Given the description of an element on the screen output the (x, y) to click on. 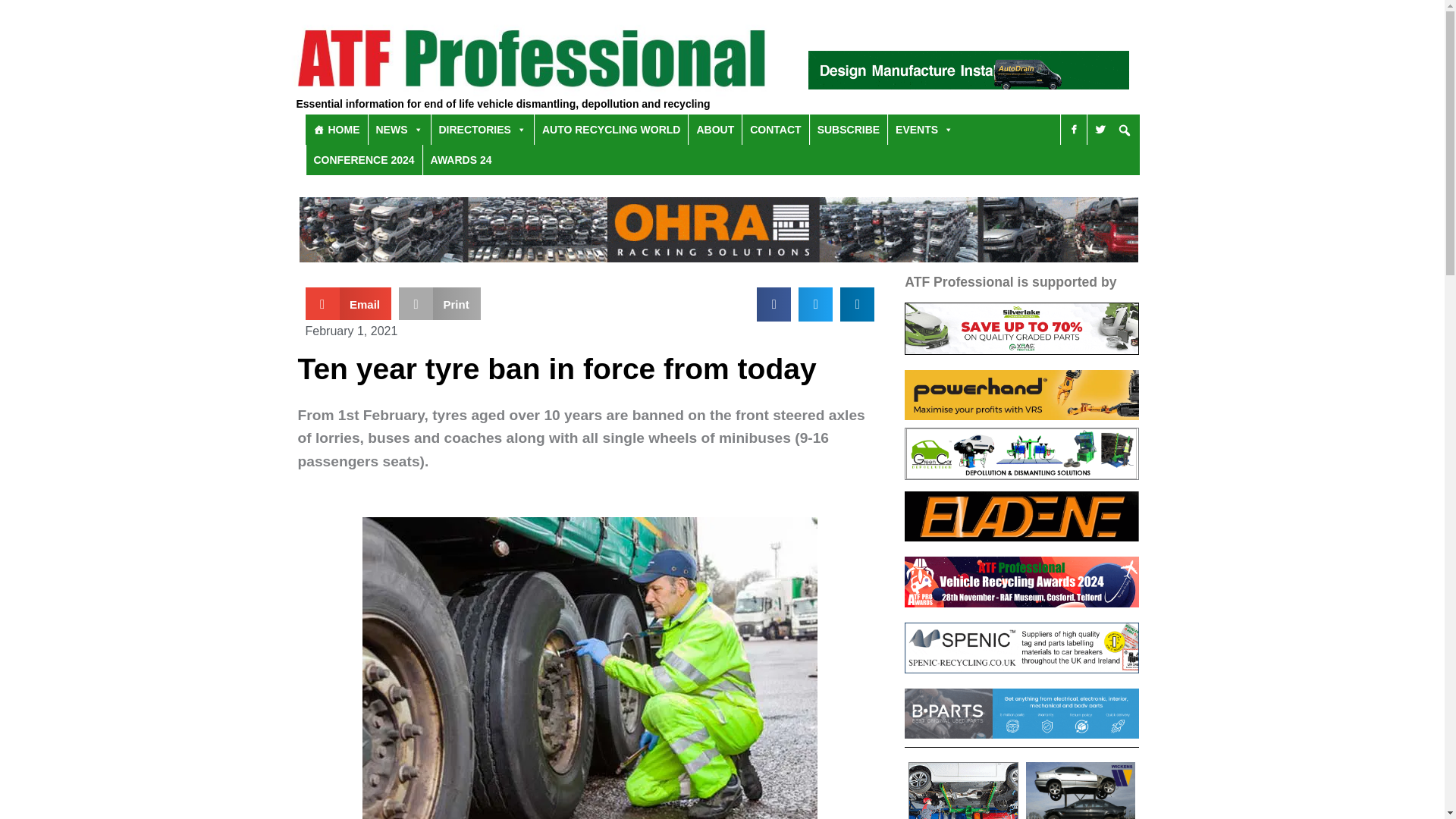
Search (689, 350)
Search (864, 188)
NEWS (399, 129)
DIRECTORIES (481, 129)
HOME (335, 129)
